Given the description of an element on the screen output the (x, y) to click on. 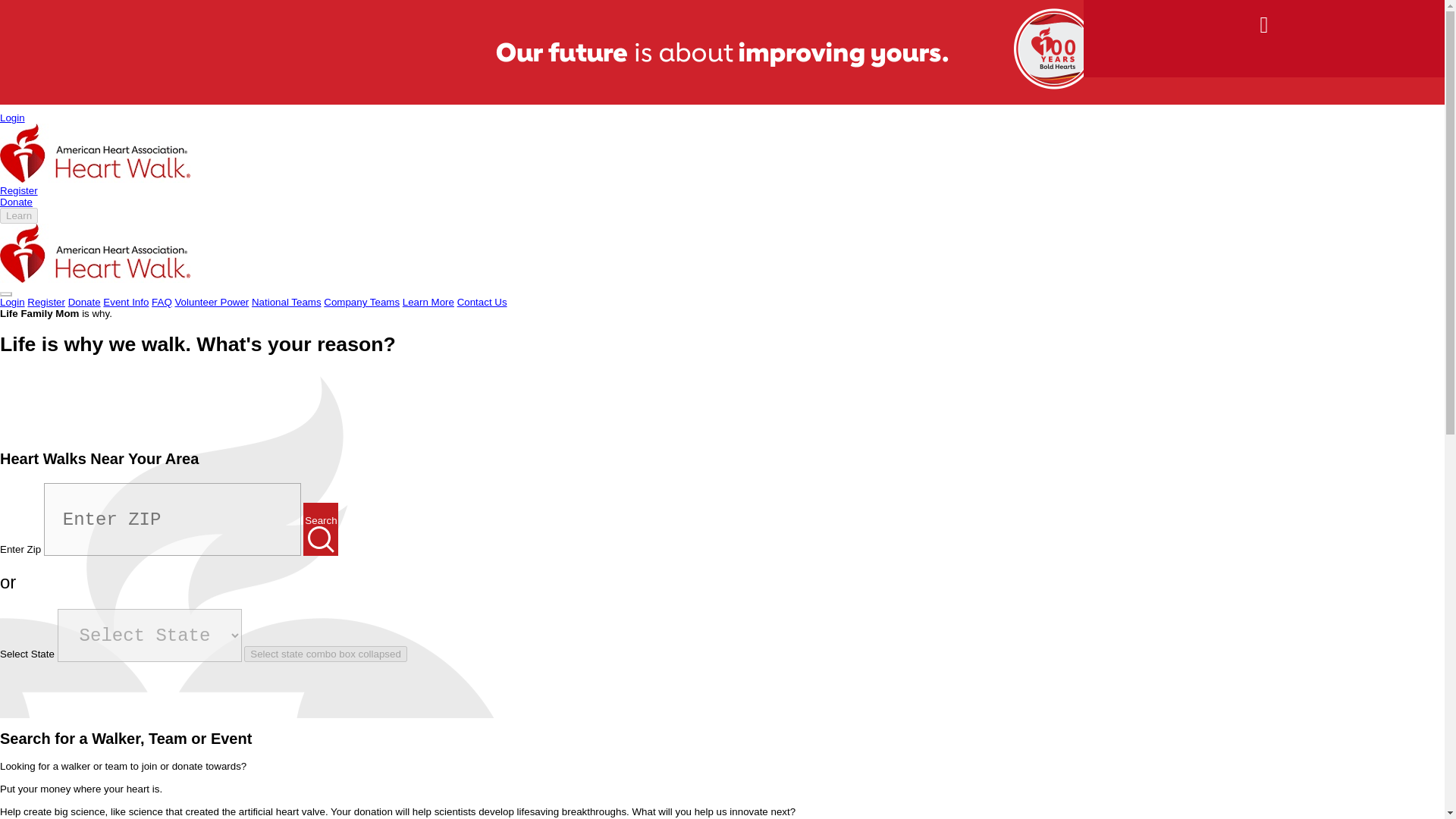
Login (12, 117)
Volunteer Power (211, 301)
Company Teams (360, 301)
Select state combo box collapsed (325, 653)
Donate (84, 301)
Contact Us (481, 301)
FAQ (161, 301)
Register (46, 301)
Login (12, 301)
Learn More (428, 301)
